Given the description of an element on the screen output the (x, y) to click on. 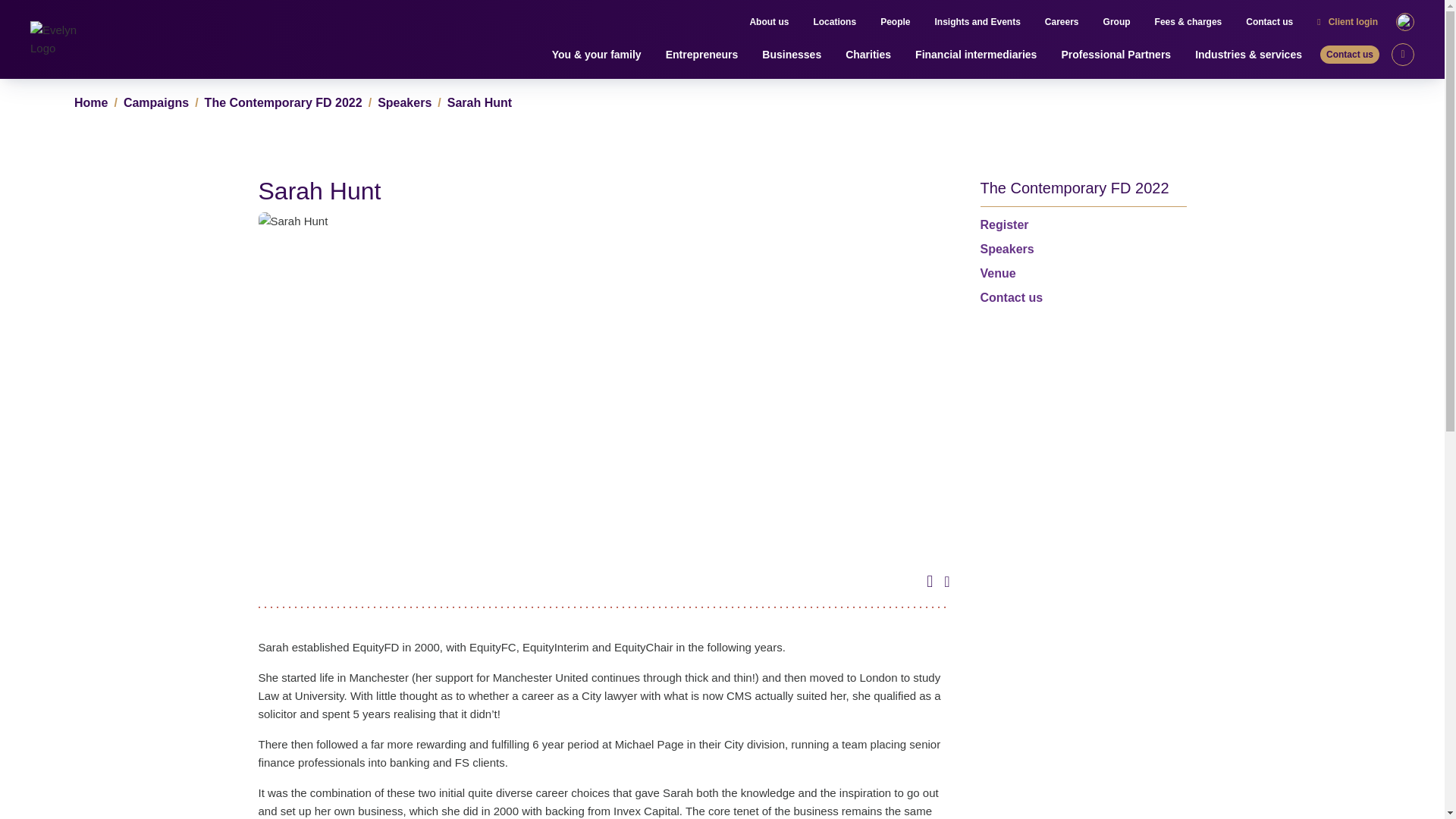
Client login (1347, 22)
Businesses (791, 54)
Locations (833, 22)
Insights and Events (977, 22)
About us (768, 22)
Contact us (1269, 22)
Entrepreneurs (701, 54)
Careers (1061, 22)
People (895, 22)
Group (1117, 22)
Evelyn (65, 39)
